Given the description of an element on the screen output the (x, y) to click on. 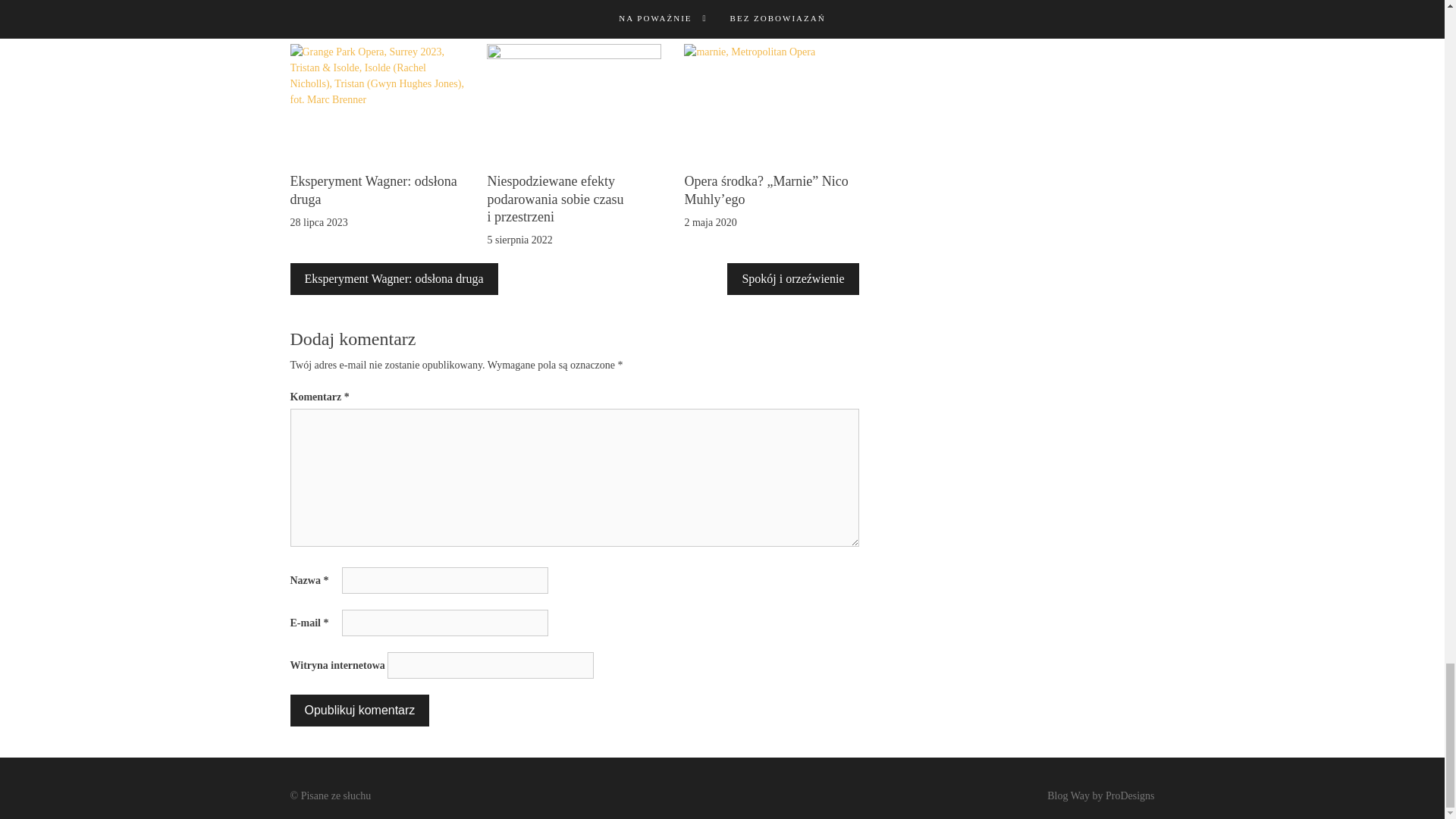
ProDesigns (1129, 795)
Niespodziewane efekty podarowania sobie czasu i przestrzeni (554, 198)
Opublikuj komentarz (359, 710)
Opublikuj komentarz (359, 710)
